Given the description of an element on the screen output the (x, y) to click on. 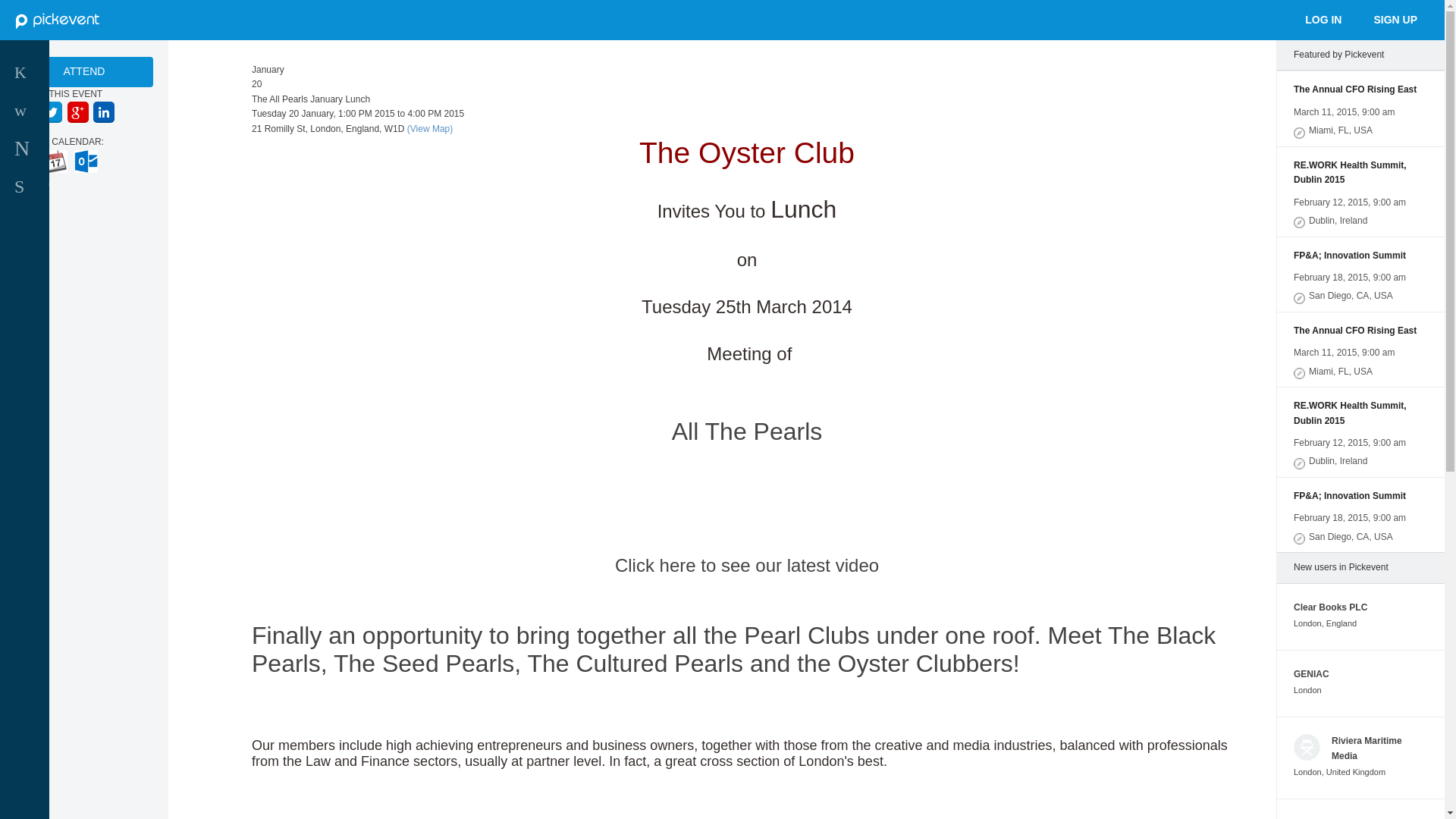
LOG IN (1322, 18)
Overall (84, 72)
RE.WORK Health Summit, Dublin 2015 (1361, 172)
Users (84, 186)
The Annual CFO Rising East (1361, 89)
Users (84, 148)
GENIAC (1311, 674)
SIGN UP (84, 186)
Clear Books PLC (1394, 18)
